Given the description of an element on the screen output the (x, y) to click on. 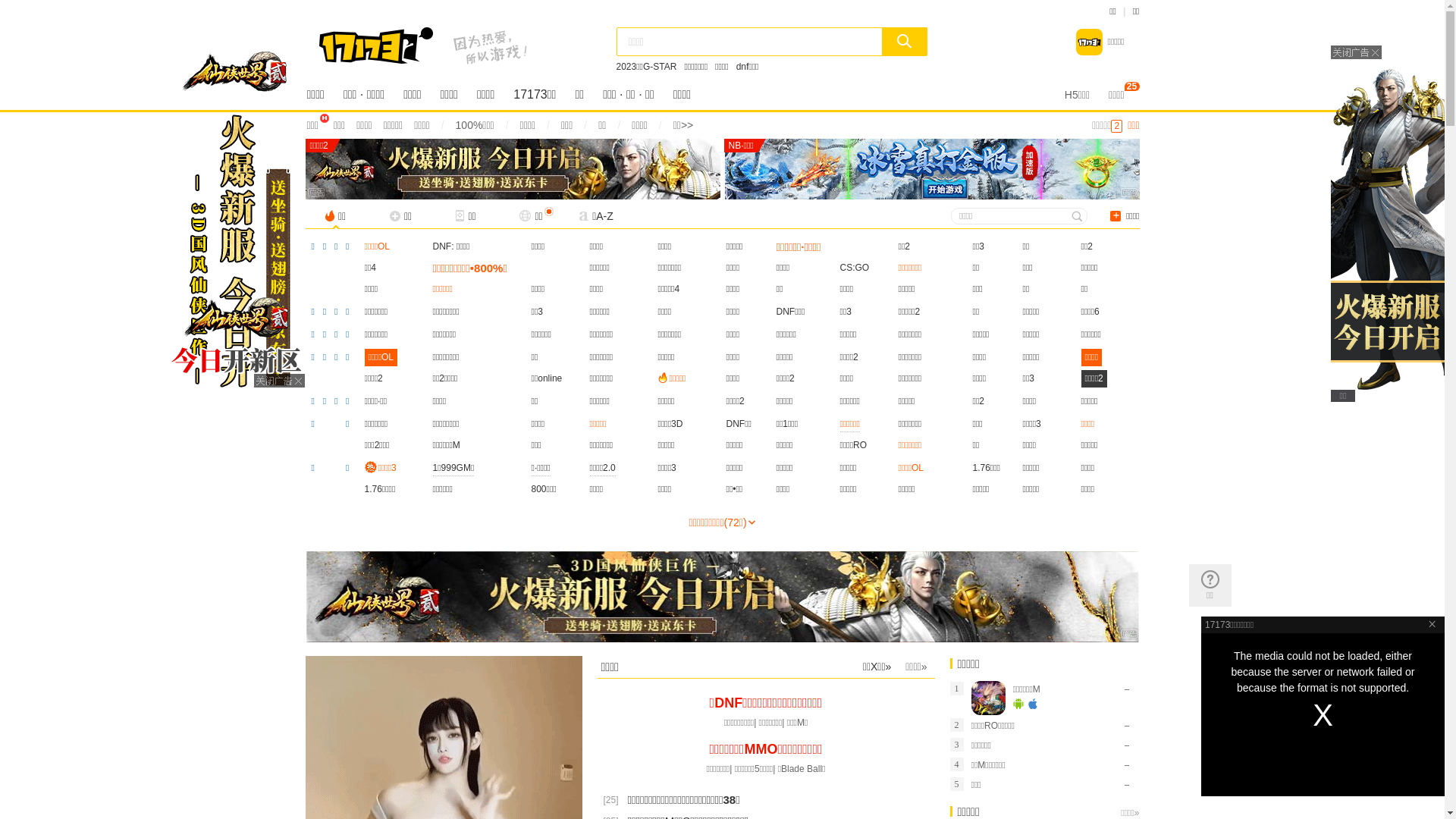
CS:GO Element type: text (854, 267)
